Given the description of an element on the screen output the (x, y) to click on. 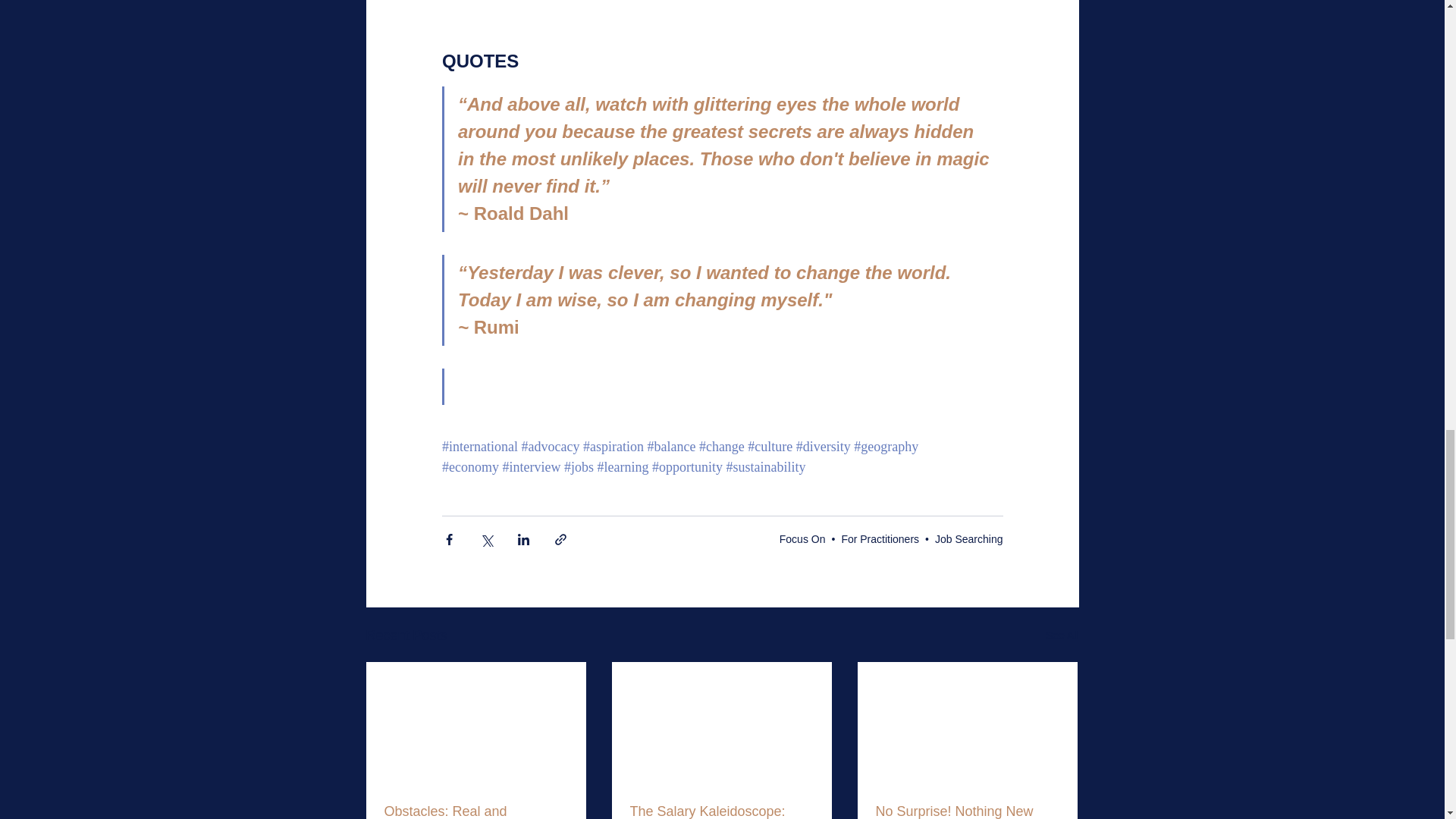
Job Searching (968, 538)
See All (1061, 635)
Focus On (801, 538)
For Practitioners (879, 538)
